Given the description of an element on the screen output the (x, y) to click on. 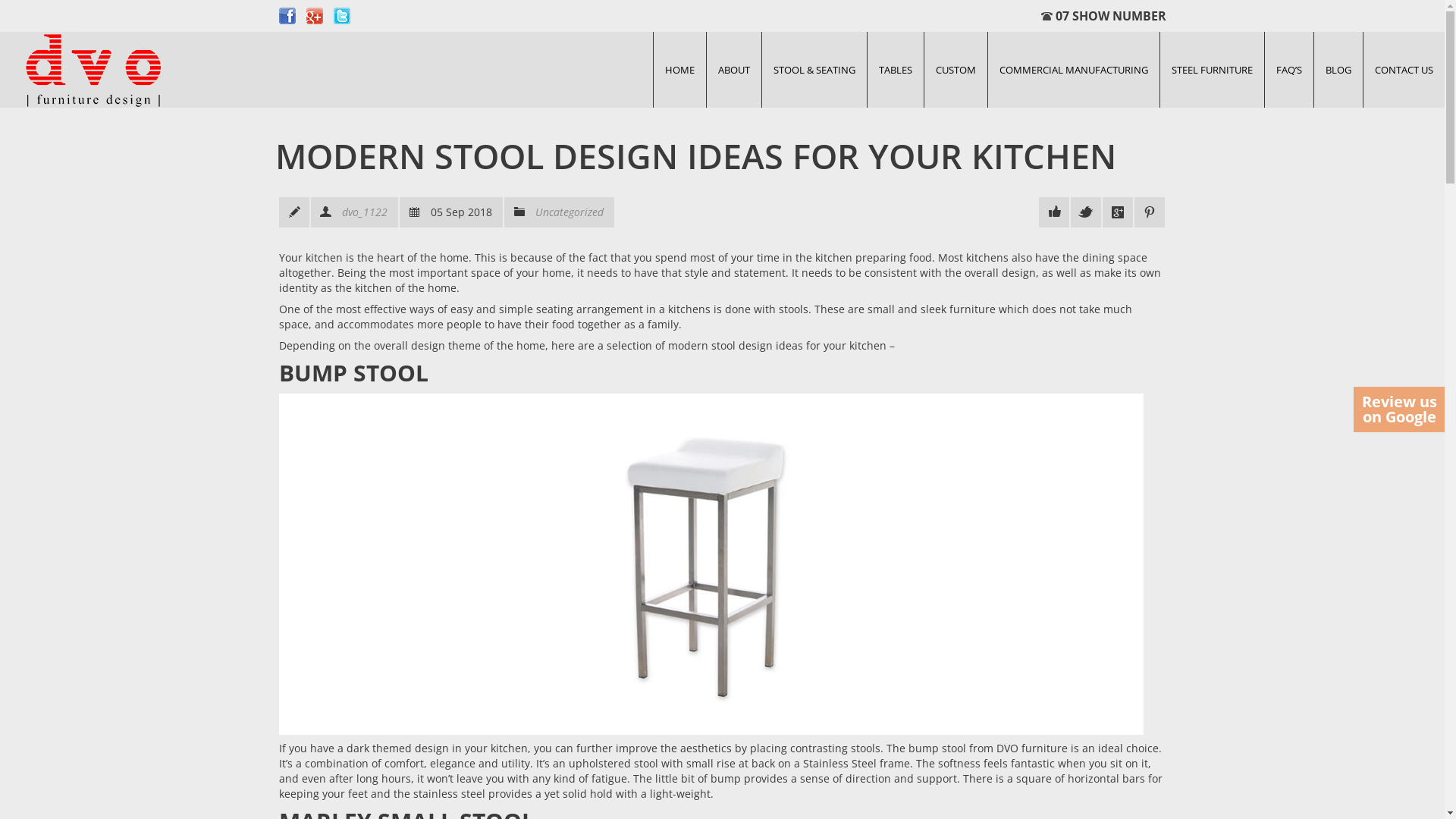
CUSTOM Element type: text (955, 69)
HOME Element type: text (679, 69)
STOOL & SEATING Element type: text (814, 69)
dvo_1122 Element type: text (363, 211)
CONTACT US Element type: text (1403, 69)
COMMERCIAL MANUFACTURING Element type: text (1073, 69)
ABOUT Element type: text (733, 69)
STEEL FURNITURE Element type: text (1212, 69)
BLOG Element type: text (1338, 69)
07 SHOW NUMBER Element type: text (1103, 15)
TABLES Element type: text (895, 69)
Review us on Google Element type: text (1398, 409)
Uncategorized Element type: text (569, 211)
